Given the description of an element on the screen output the (x, y) to click on. 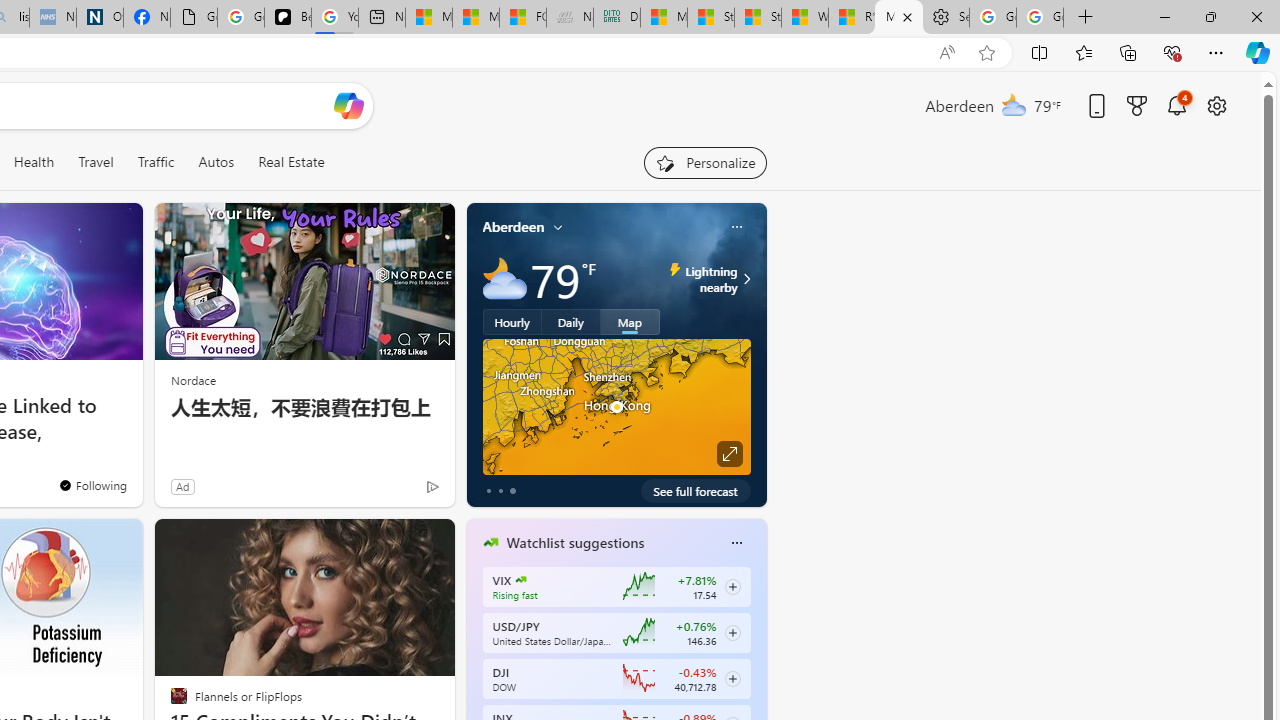
Map (630, 321)
You're following Newsweek (92, 485)
Larger map  (616, 407)
